Given the description of an element on the screen output the (x, y) to click on. 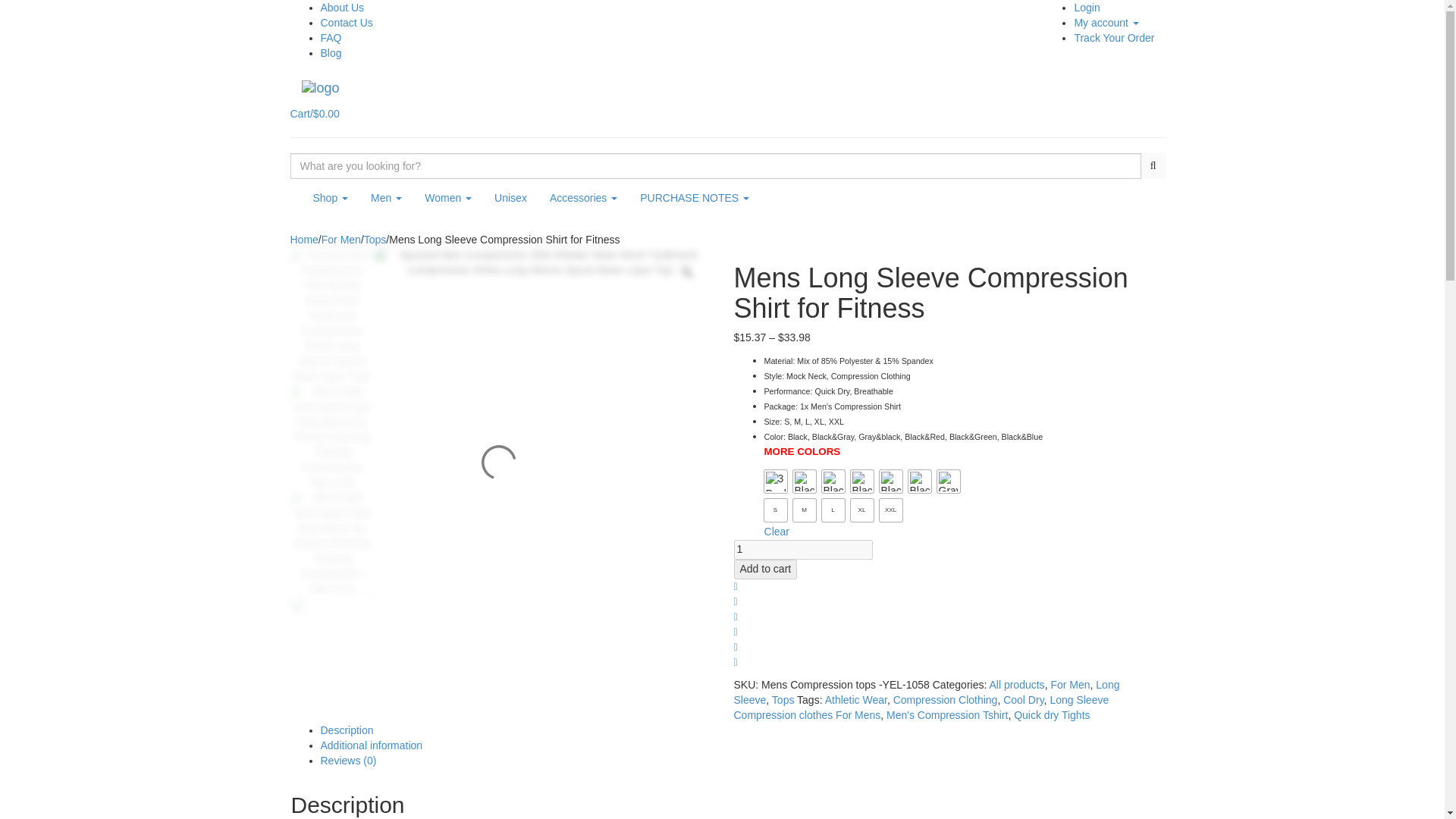
FAQ (330, 37)
Shop (330, 198)
Blog (330, 52)
Search (1153, 166)
Track Your Order (1114, 37)
Login (1086, 7)
Track Your Order (1114, 37)
About Us (342, 7)
Contact Us (346, 22)
Unisex (510, 198)
Men (386, 198)
Shop (330, 198)
Login (1086, 7)
About Us (342, 7)
Accessories (583, 198)
